Given the description of an element on the screen output the (x, y) to click on. 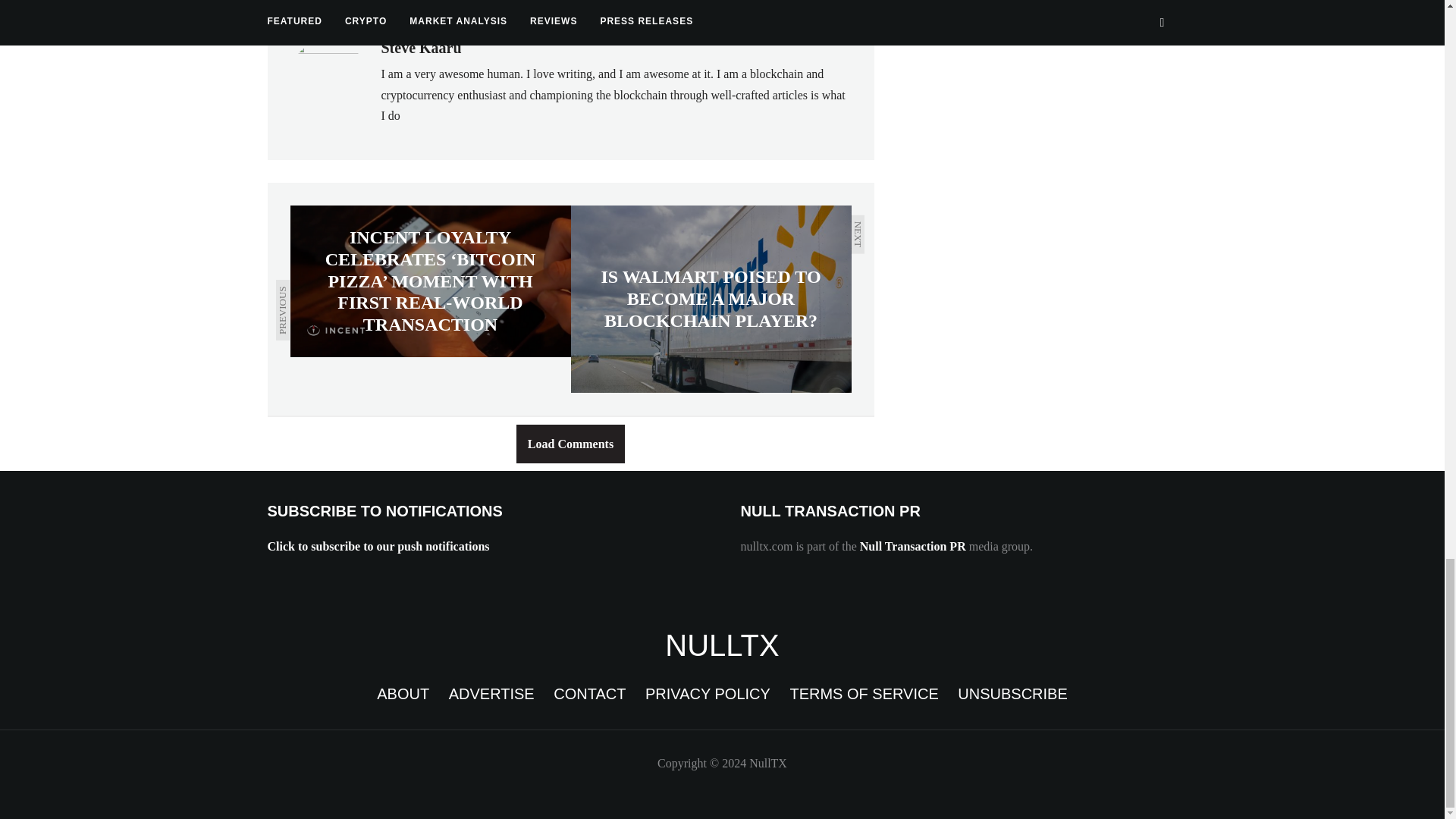
Cryptocurrency News (721, 644)
IS WALMART POISED TO BECOME A MAJOR BLOCKCHAIN PLAYER? (710, 299)
Click to subscribe to our push notifications (377, 545)
Steve Kaaru (420, 47)
Load Comments (570, 444)
Null Transaction PR (913, 545)
Is Walmart Poised to Become a Major Blockchain Player? (710, 299)
ABOUT (403, 693)
Posts by Steve Kaaru (420, 47)
NULLTX (721, 644)
